Given the description of an element on the screen output the (x, y) to click on. 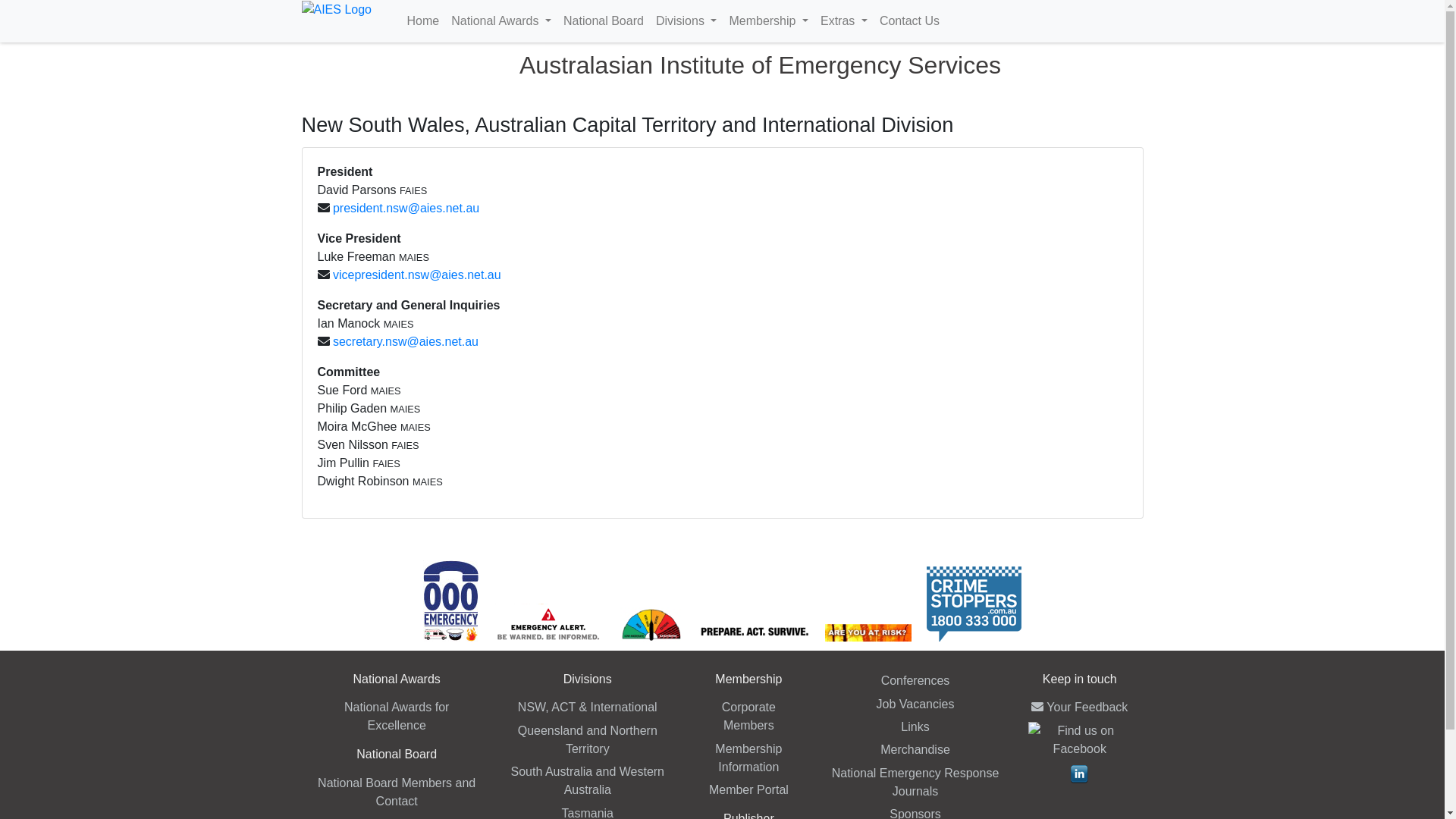
Queensland and Northern Territory Element type: text (587, 739)
Emergency Alert. Be Warned. Be Informed. Element type: hover (548, 621)
South Australia and Western Australia Element type: text (588, 780)
Divisions Element type: text (686, 21)
president.nsw@aies.net.au Element type: text (405, 207)
Bush Fire Household Assessment Tool Element type: hover (868, 631)
Links Element type: text (914, 726)
vicepresident.nsw@aies.net.au Element type: text (416, 274)
In an Emergency Dial Triple Zero Element type: hover (450, 599)
Member Portal Element type: text (748, 789)
AIES Home Element type: hover (336, 9)
Your Feedback Element type: text (1079, 706)
Extras Element type: text (843, 21)
National Awards Element type: text (501, 21)
Contact Us Element type: text (909, 21)
Corporate Members Element type: text (748, 715)
National Emergency Response Journals Element type: text (915, 781)
secretary.nsw@aies.net.au Element type: text (405, 341)
Find us on Facebook Element type: hover (1079, 738)
Find us on LinkedIn Element type: hover (1079, 771)
Crime Stoppers Australia | For a safer Australia Element type: hover (973, 602)
Fire Danger Ratings Element type: hover (651, 623)
Conferences Element type: text (915, 680)
National Board Element type: text (603, 21)
National Awards for Excellence Element type: text (396, 715)
Job Vacancies Element type: text (915, 703)
Merchandise Element type: text (915, 749)
NSW, ACT & International Element type: text (587, 706)
Membership Element type: text (768, 21)
National Board Members and Contact Element type: text (396, 791)
Home Element type: text (422, 21)
Prepare Act Survive Element type: hover (753, 632)
Membership Information Element type: text (748, 757)
